Given the description of an element on the screen output the (x, y) to click on. 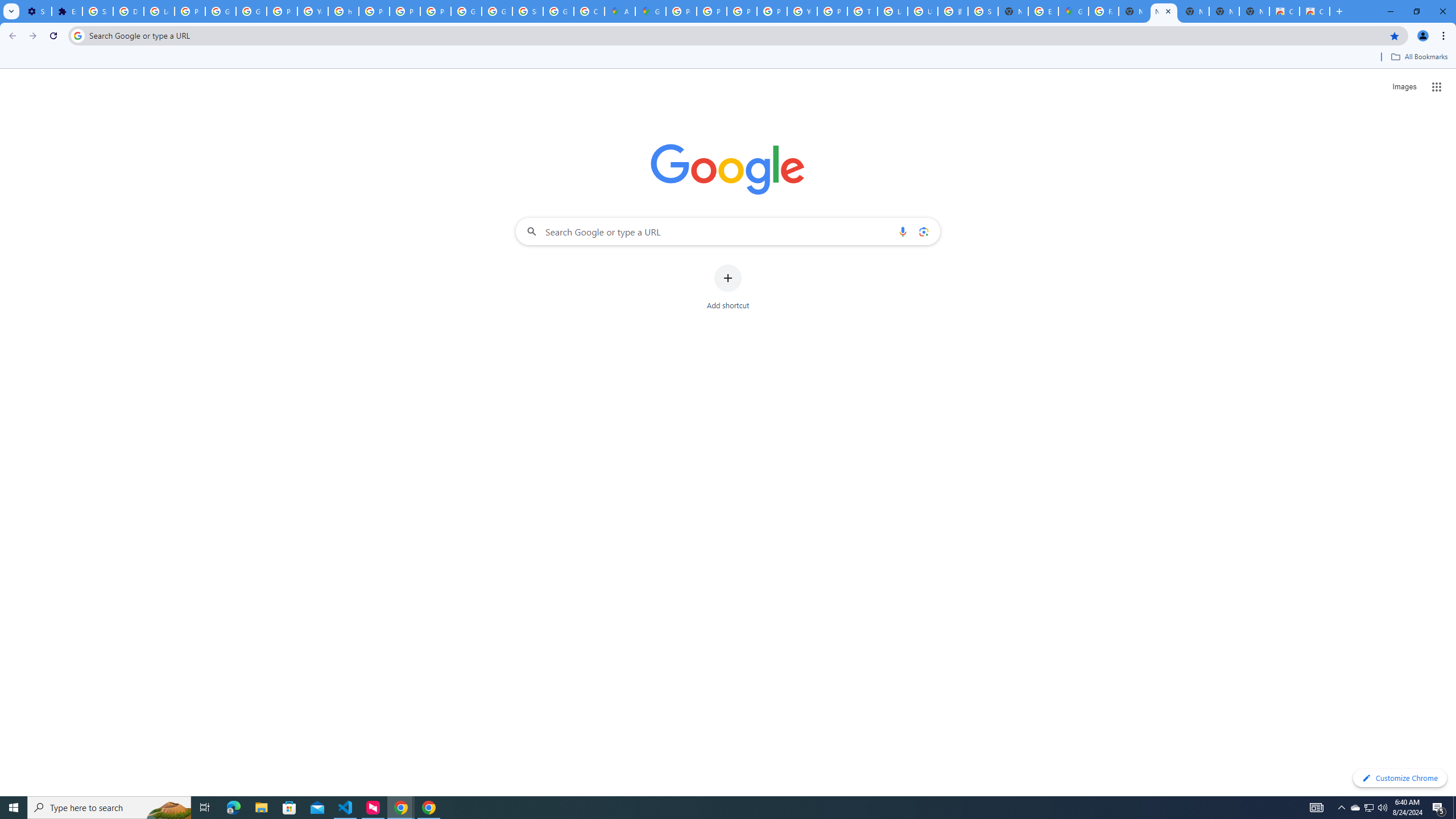
YouTube (801, 11)
https://scholar.google.com/ (343, 11)
Classic Blue - Chrome Web Store (1283, 11)
Create your Google Account (589, 11)
